Given the description of an element on the screen output the (x, y) to click on. 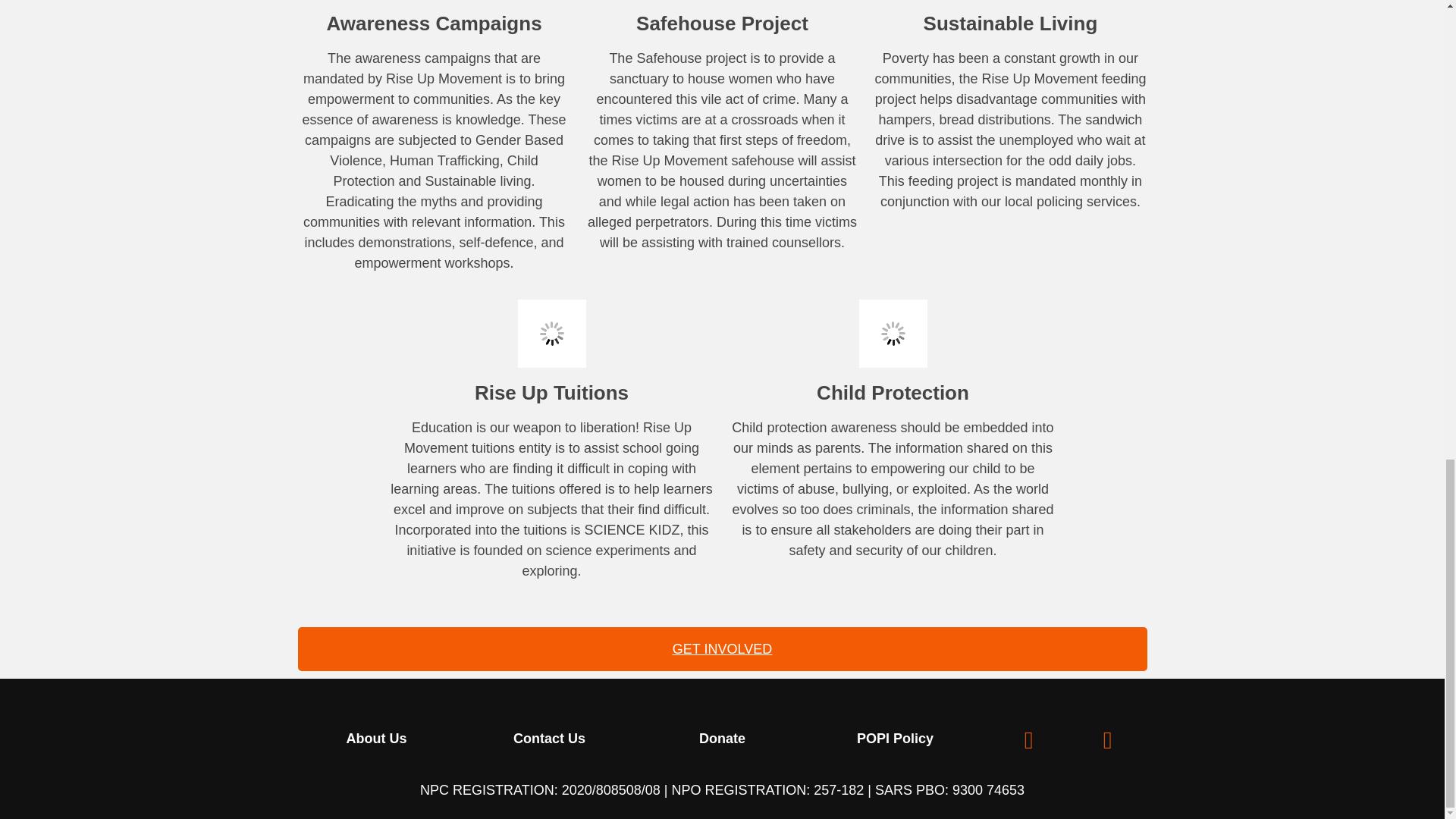
Contact Us (549, 738)
POPI Policy (895, 738)
About Us (376, 738)
GET INVOLVED (722, 648)
Donate (721, 738)
